Given the description of an element on the screen output the (x, y) to click on. 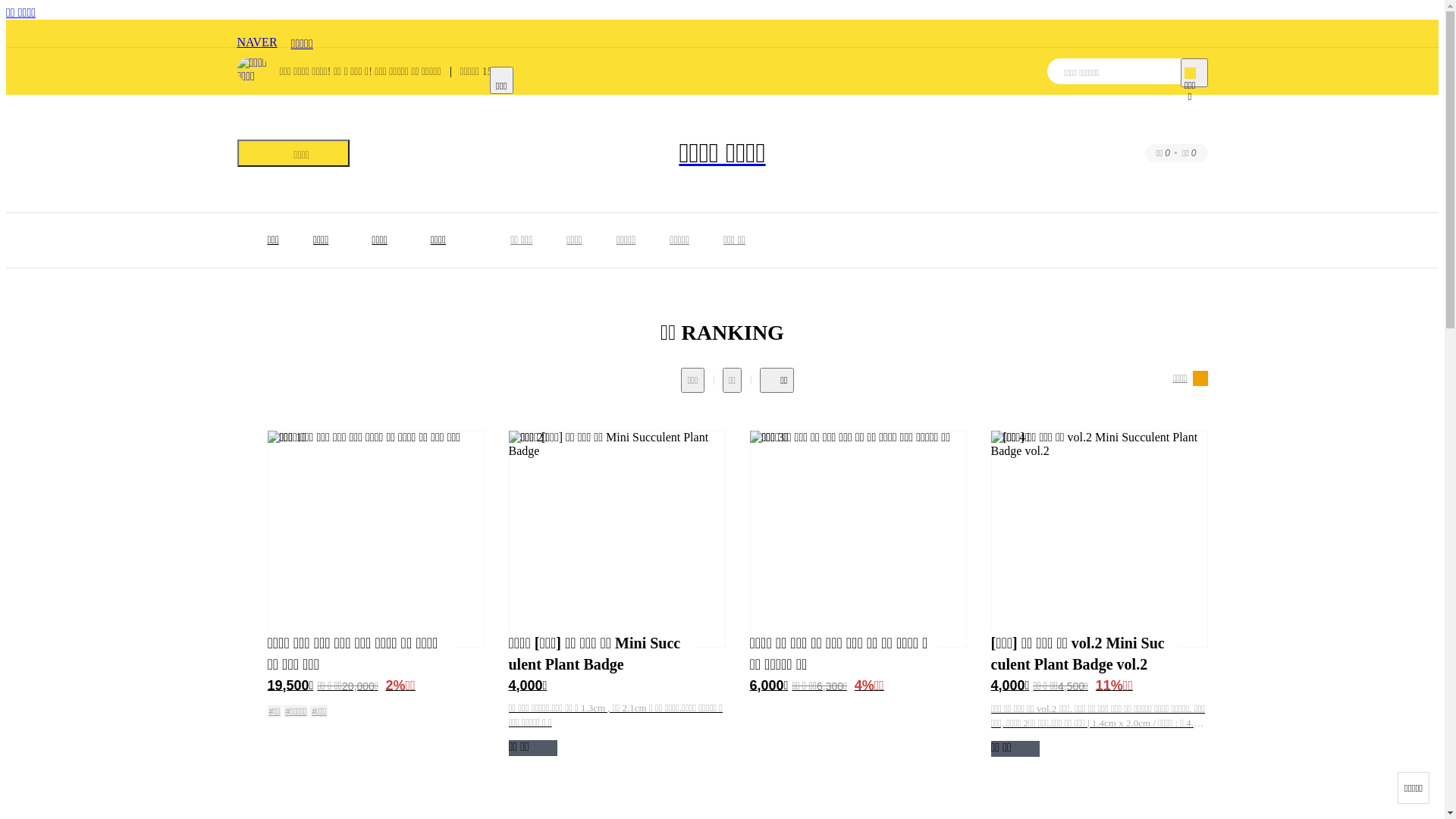
NAVER Element type: text (256, 33)
